Given the description of an element on the screen output the (x, y) to click on. 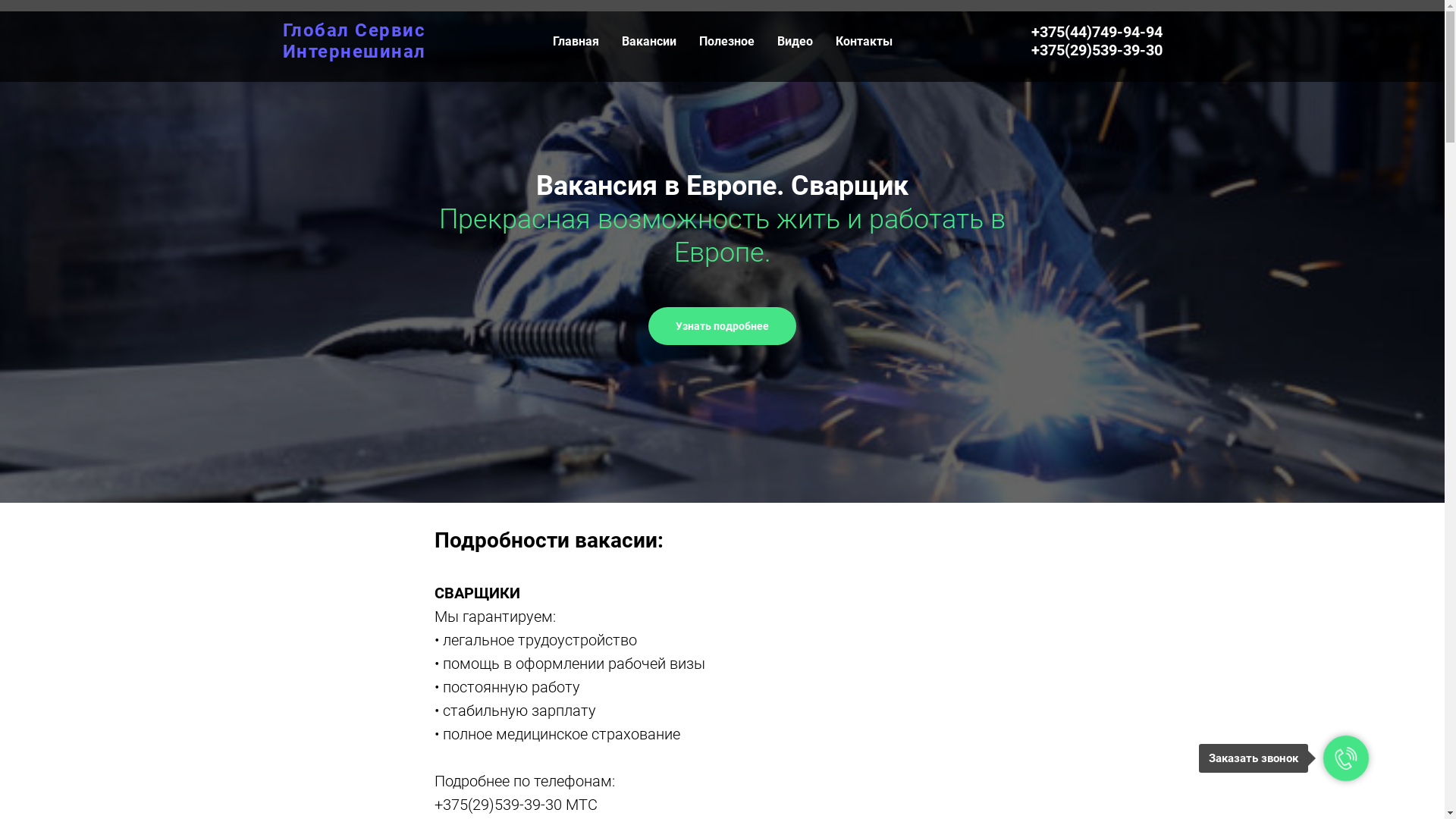
+375(44)749-94-94 Element type: text (1096, 31)
+375(29)539-39-30 Element type: text (1096, 49)
